Given the description of an element on the screen output the (x, y) to click on. 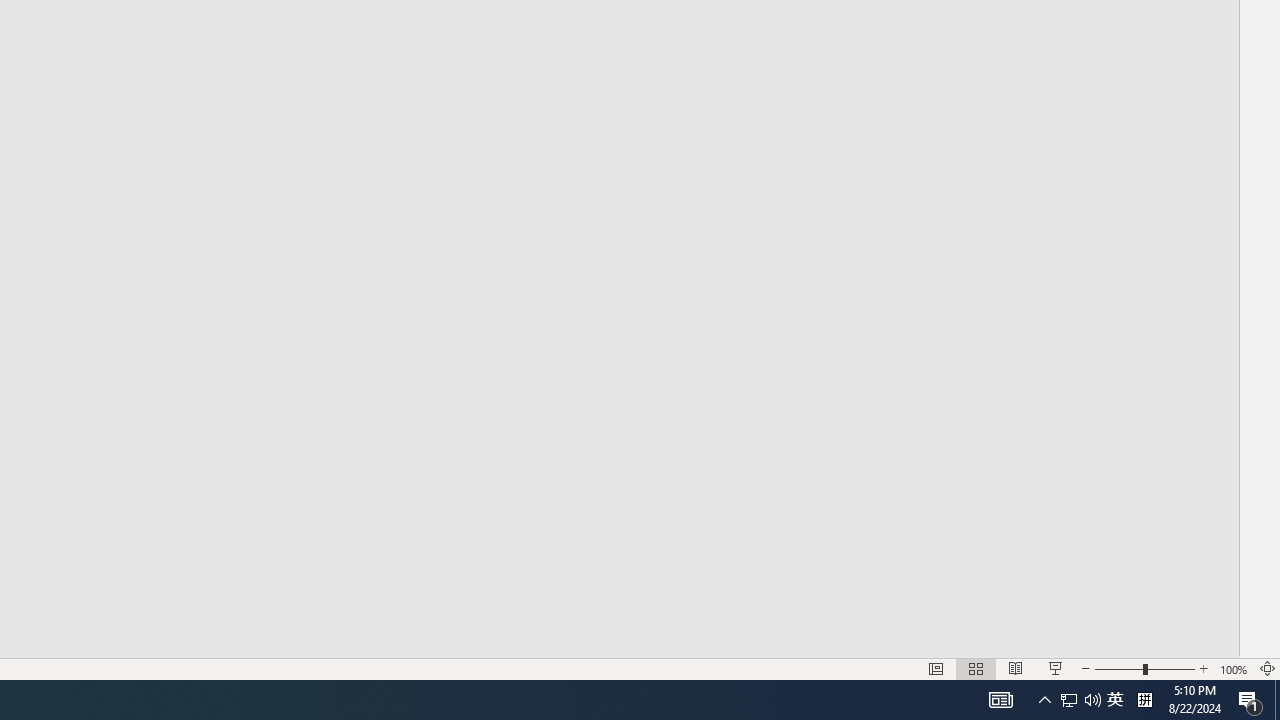
Zoom 100% (1234, 668)
